Given the description of an element on the screen output the (x, y) to click on. 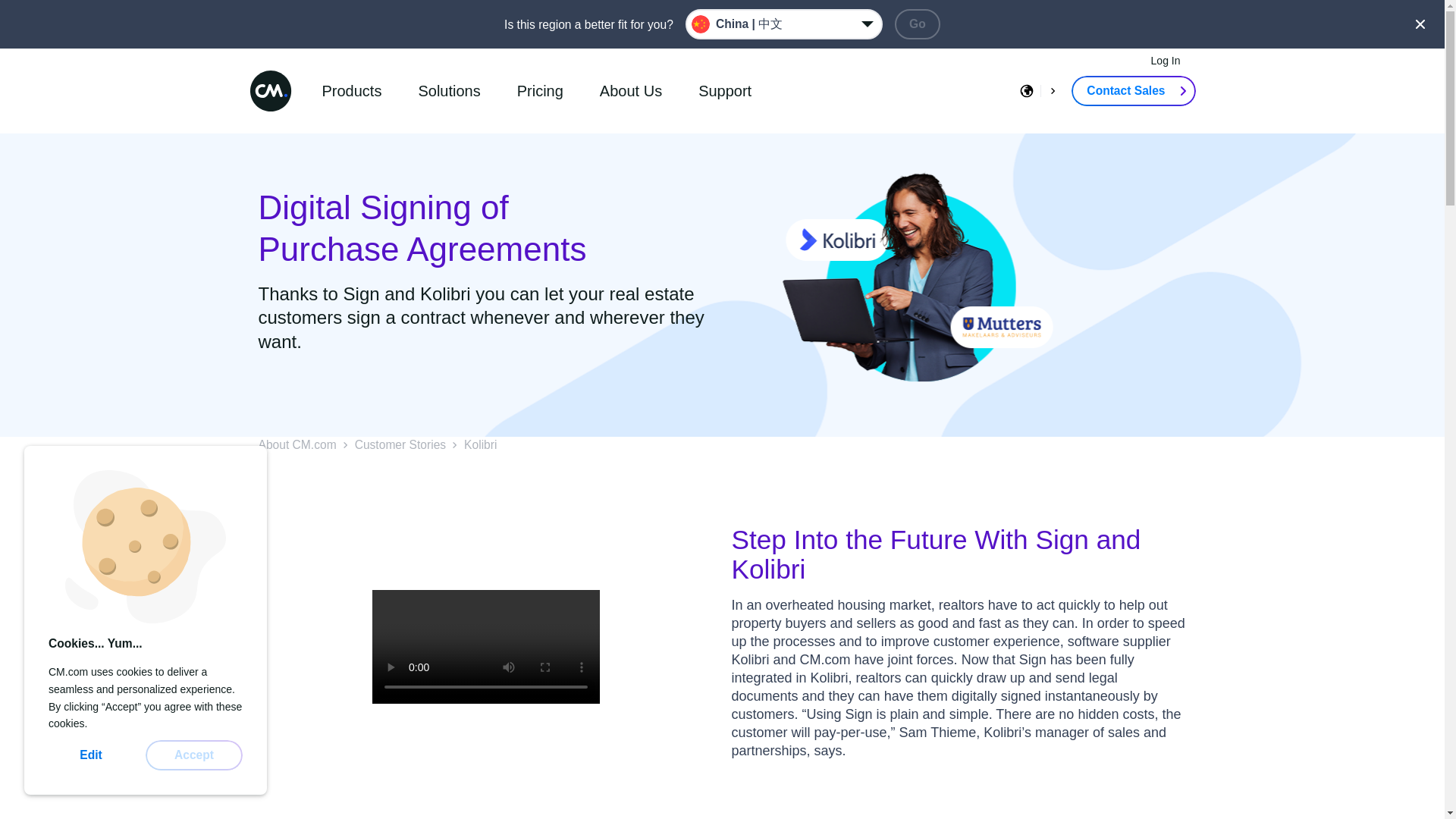
Solutions (449, 90)
CM.com (269, 90)
Log In (1165, 60)
Products (351, 90)
